Given the description of an element on the screen output the (x, y) to click on. 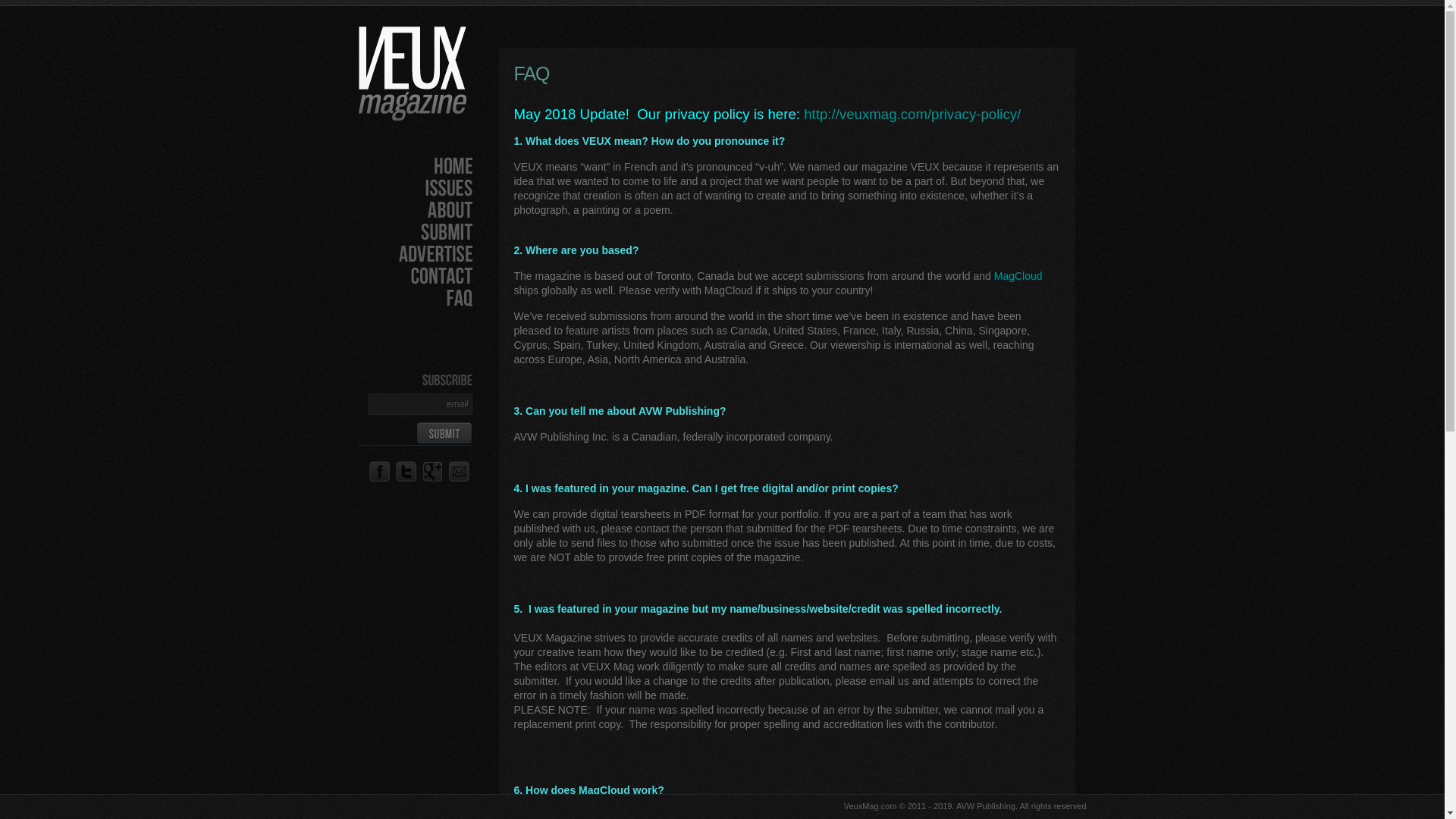
MagCloud (1018, 275)
MagCloud (1018, 275)
email (419, 403)
